Given the description of an element on the screen output the (x, y) to click on. 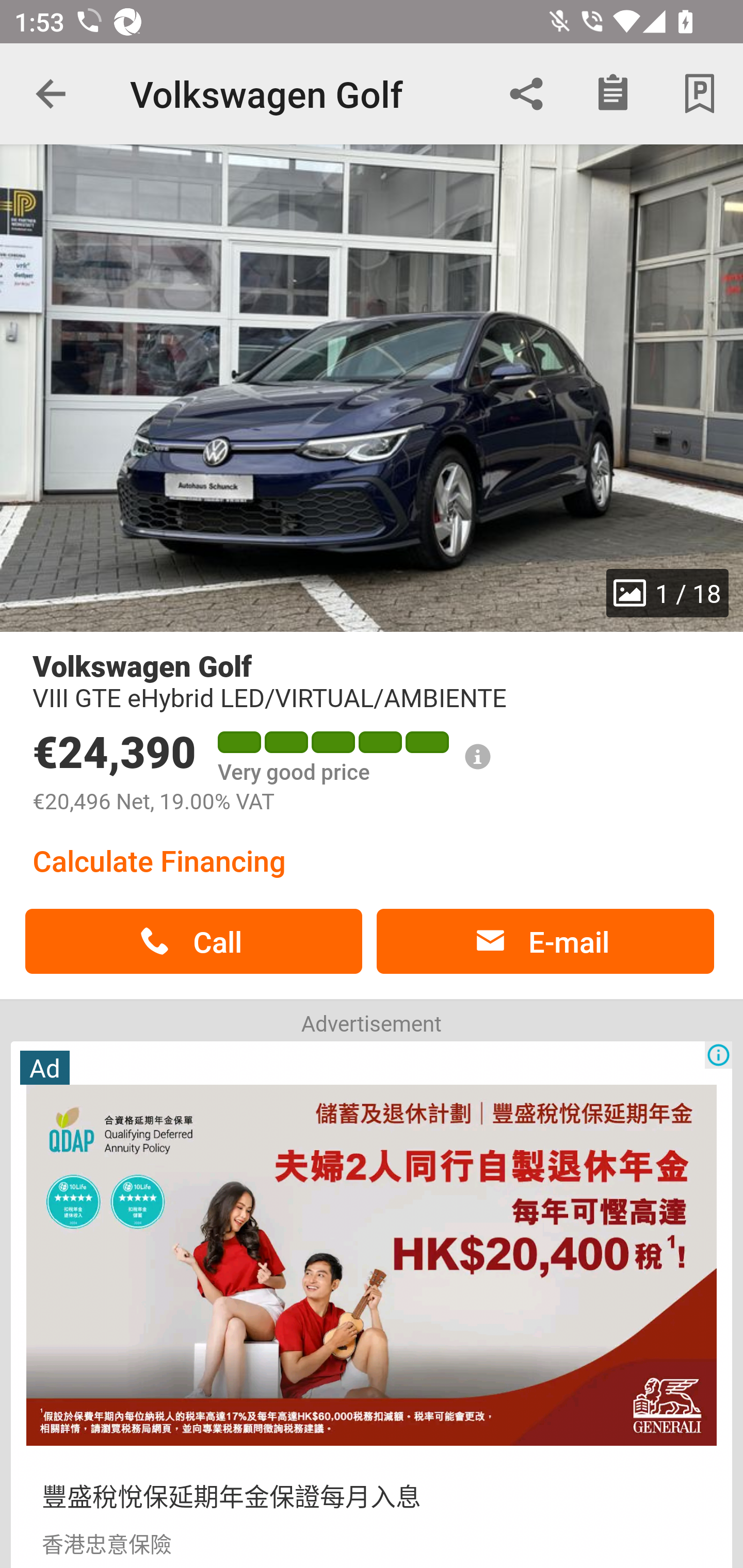
Navigate up (50, 93)
Share via (525, 93)
Checklist (612, 93)
Park (699, 93)
Calculate Financing (159, 859)
Call (193, 941)
E-mail (545, 941)
Ad 豐盛稅悅保延期年金保證每月入息 香港忠意保險 Ad Choices Icon (371, 1303)
Ad Choices Icon (718, 1055)
豐盛稅悅保延期年金保證每月入息 (231, 1495)
香港忠意保險 (106, 1542)
